Given the description of an element on the screen output the (x, y) to click on. 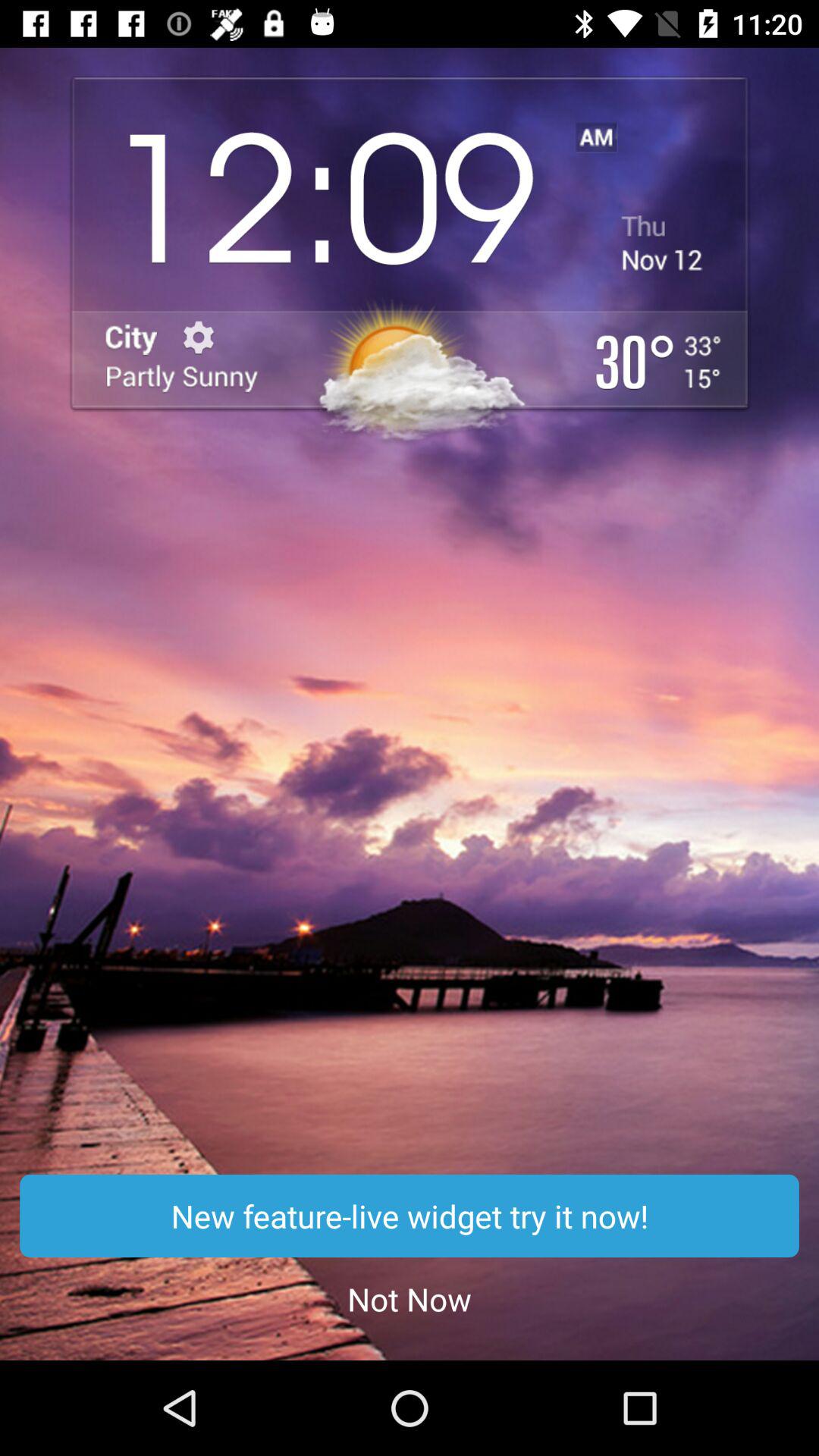
turn on icon above the not now app (409, 1215)
